Given the description of an element on the screen output the (x, y) to click on. 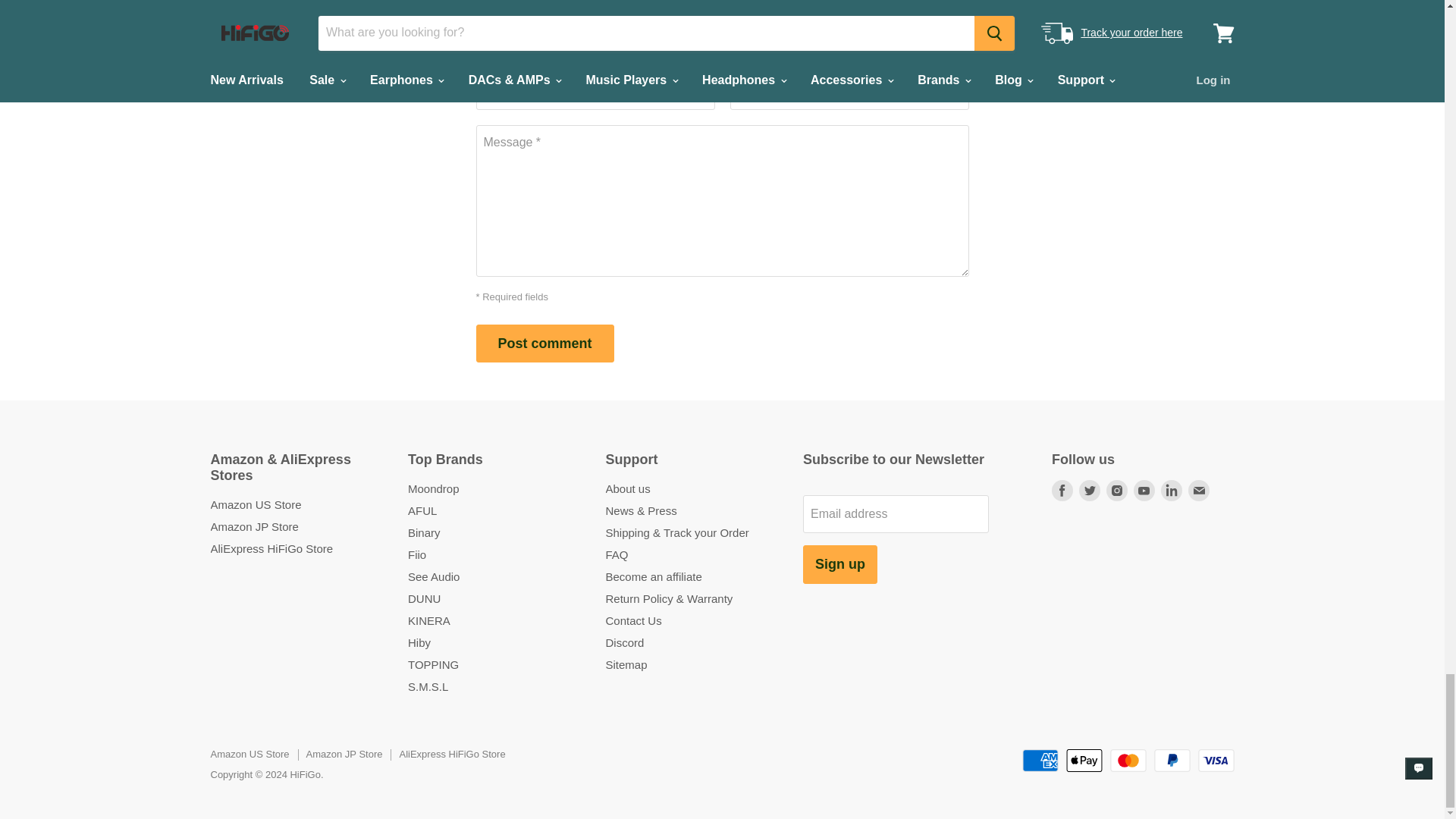
Youtube (1144, 490)
Facebook (1061, 490)
Twitter (1089, 490)
Instagram (1117, 490)
E-mail (1198, 490)
LinkedIn (1171, 490)
